Given the description of an element on the screen output the (x, y) to click on. 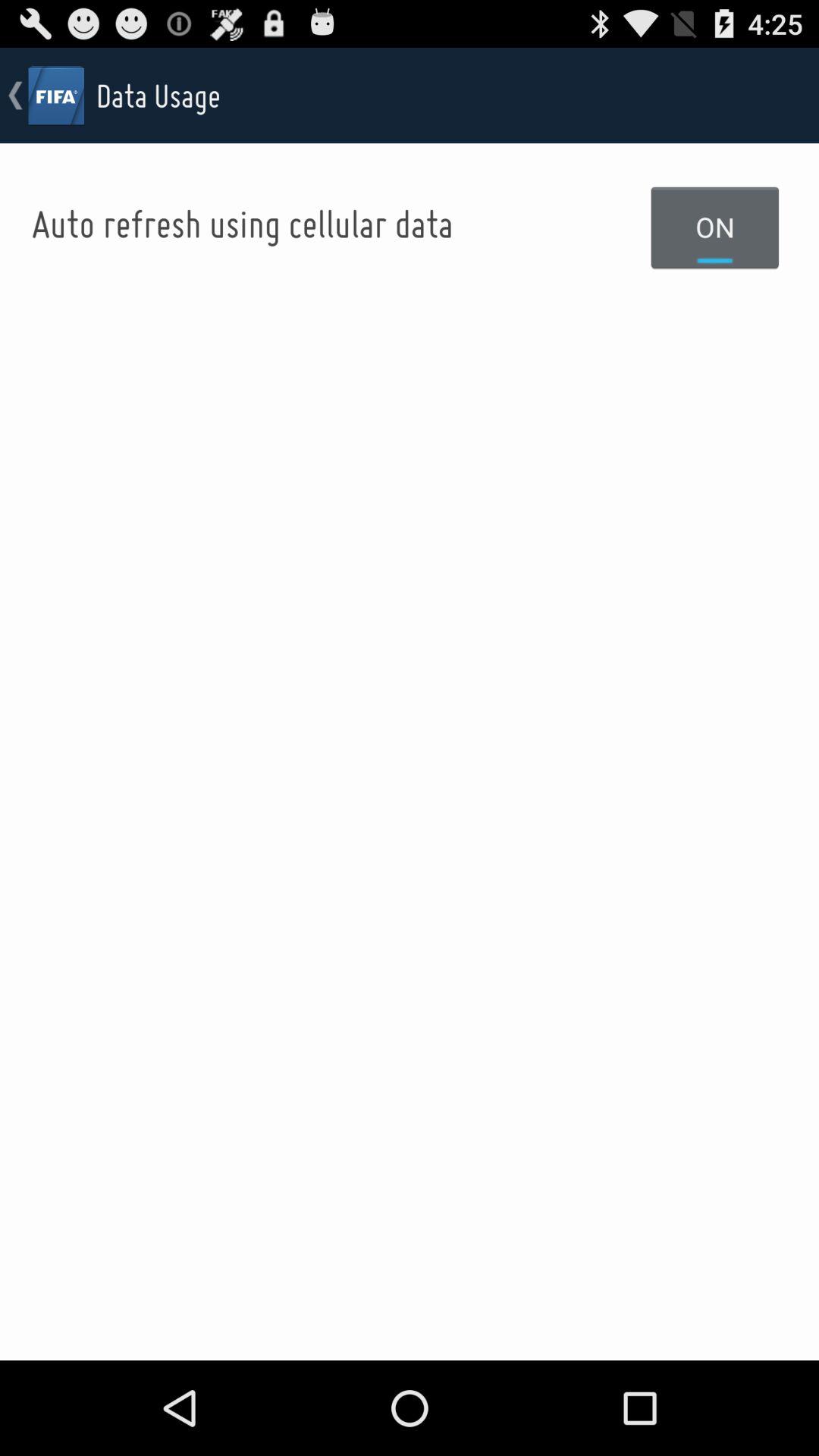
choose the item to the right of auto refresh using (714, 226)
